Given the description of an element on the screen output the (x, y) to click on. 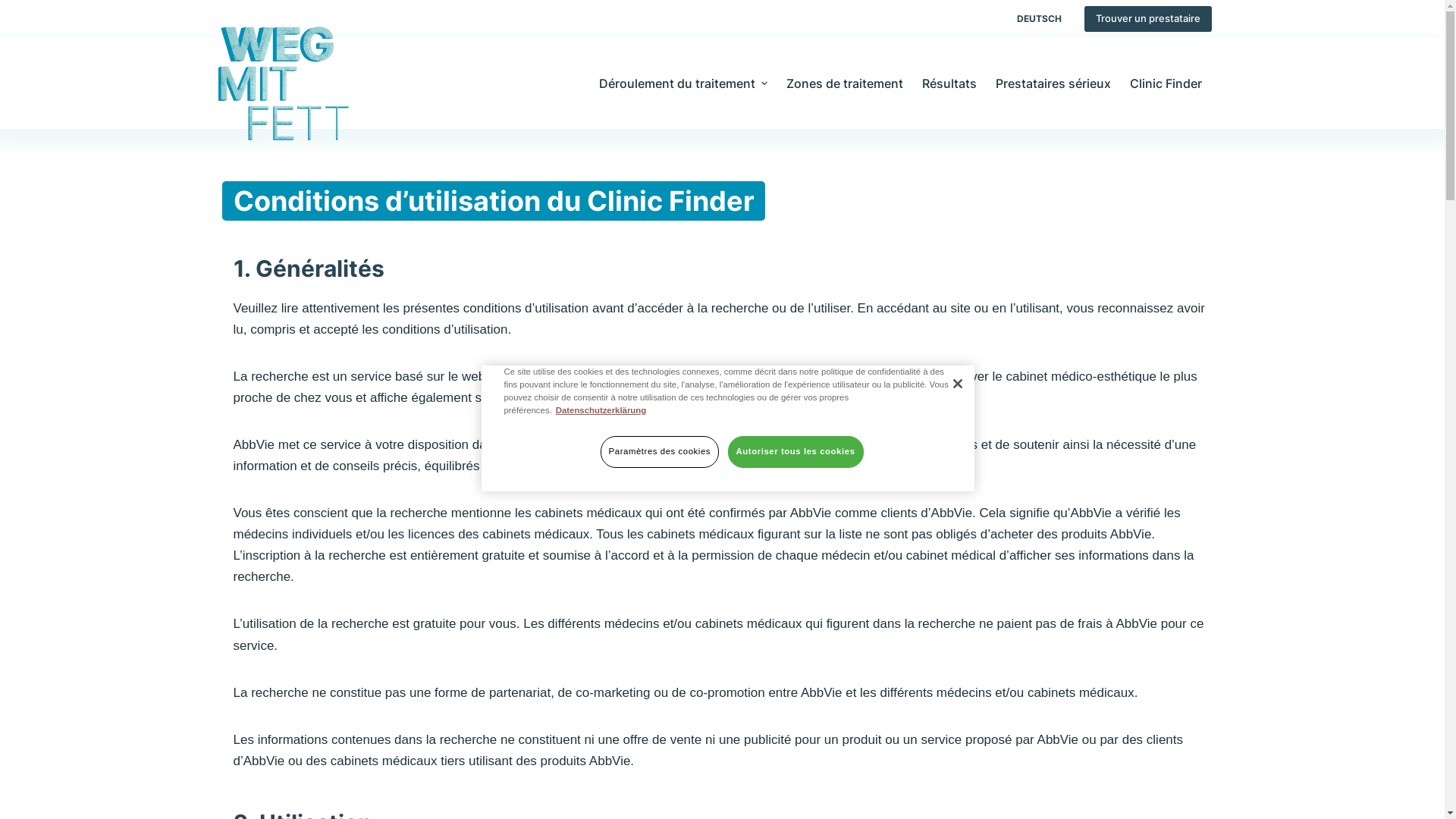
Passer au contenu Element type: text (15, 7)
Zones de traitement Element type: text (844, 82)
DEUTSCH Element type: text (1038, 18)
Trouver un prestataire Element type: text (1147, 18)
Autoriser tous les cookies Element type: text (795, 451)
Clinic Finder Element type: text (1165, 82)
